Given the description of an element on the screen output the (x, y) to click on. 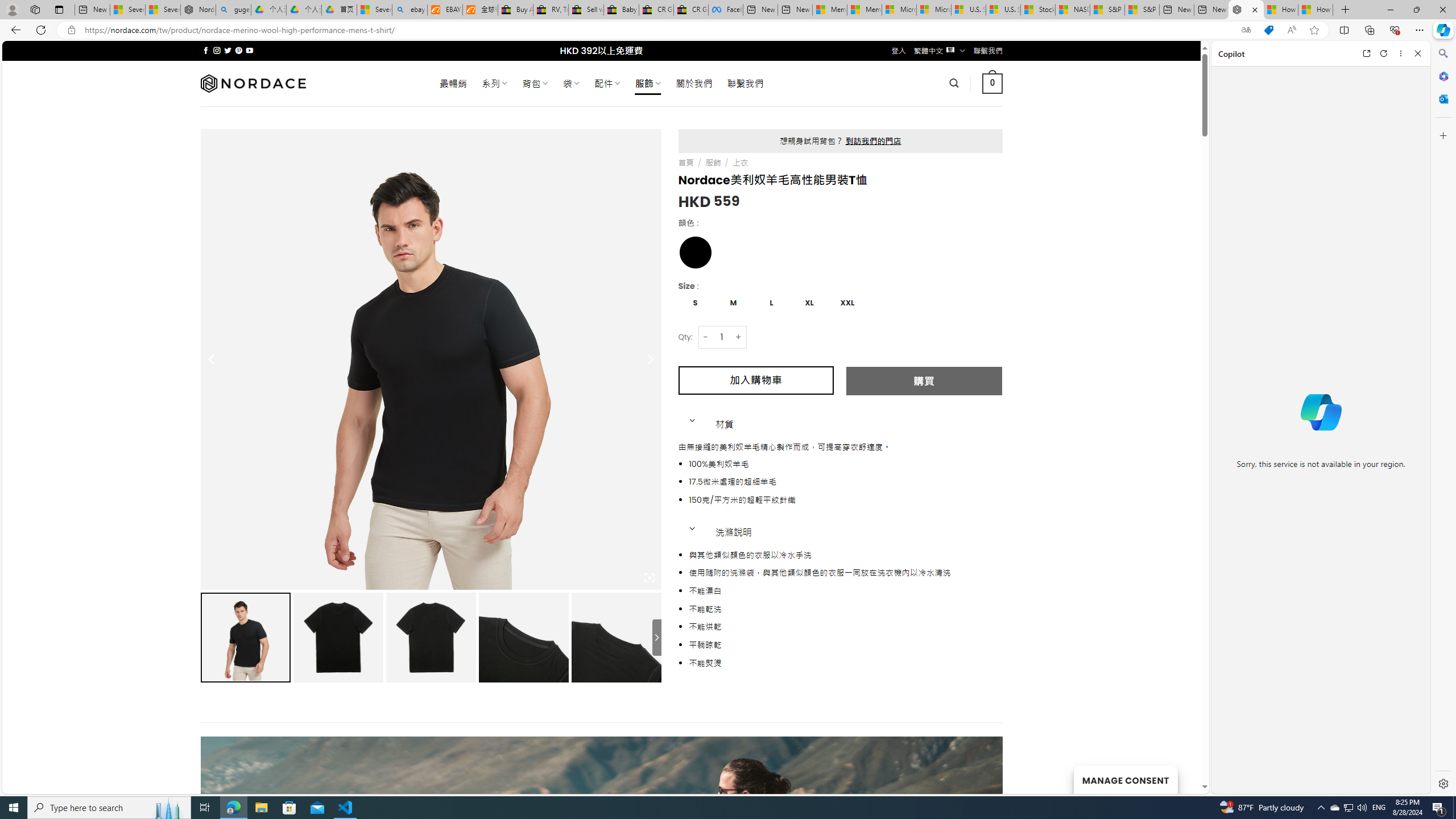
This site has coupons! Shopping in Microsoft Edge (1268, 29)
View site information (70, 29)
  0   (992, 83)
- (705, 336)
